Given the description of an element on the screen output the (x, y) to click on. 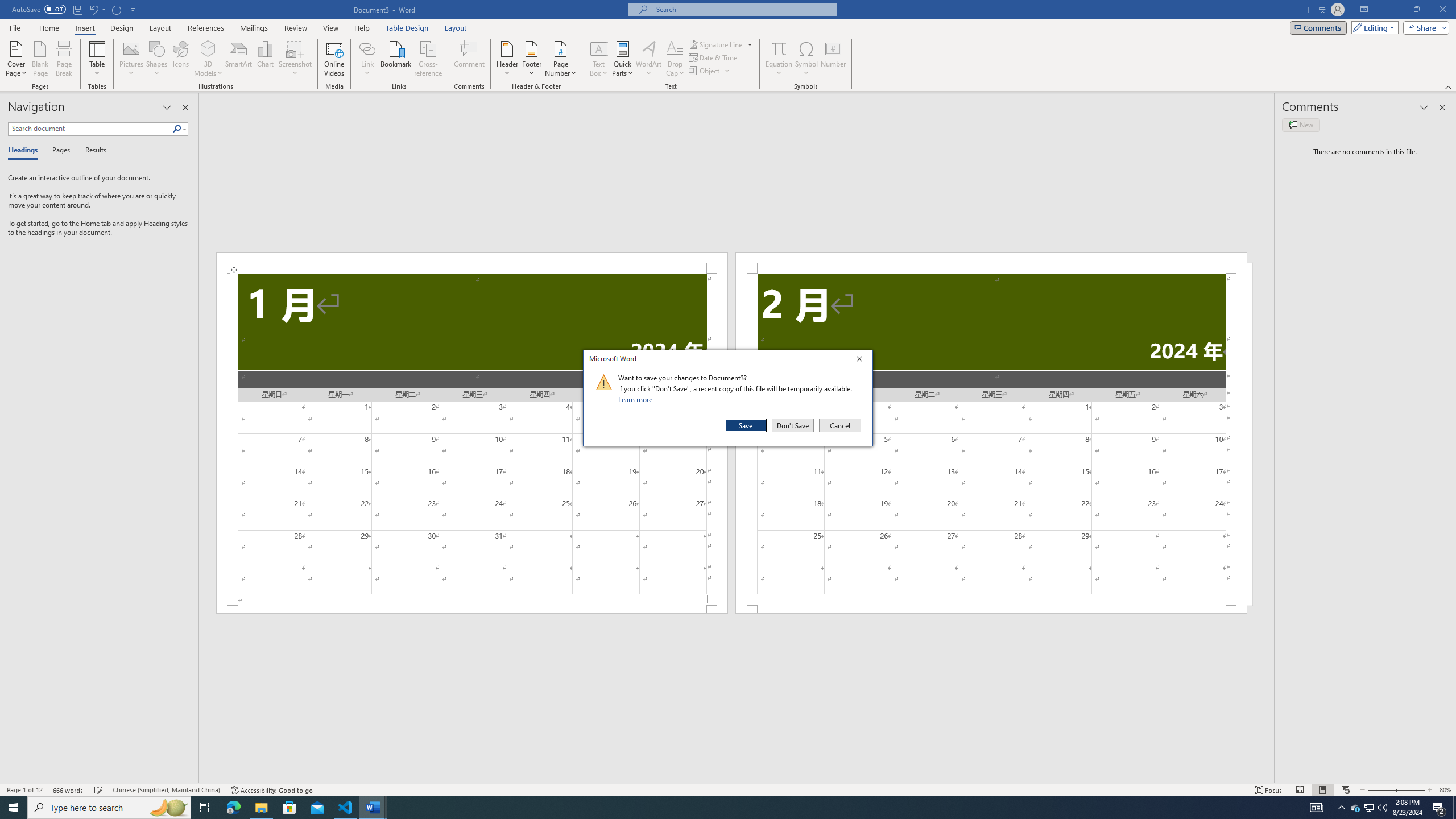
Search document (89, 128)
Object... (705, 69)
Quick Access Toolbar (74, 9)
Cover Page (16, 58)
Microsoft Edge (233, 807)
Screenshot (295, 58)
Undo Increase Indent (92, 9)
Start (13, 807)
Help (361, 28)
Header -Section 1- (471, 263)
Notification Chevron (1341, 807)
Microsoft Store (289, 807)
Signature Line (721, 44)
Text Box (598, 58)
